Given the description of an element on the screen output the (x, y) to click on. 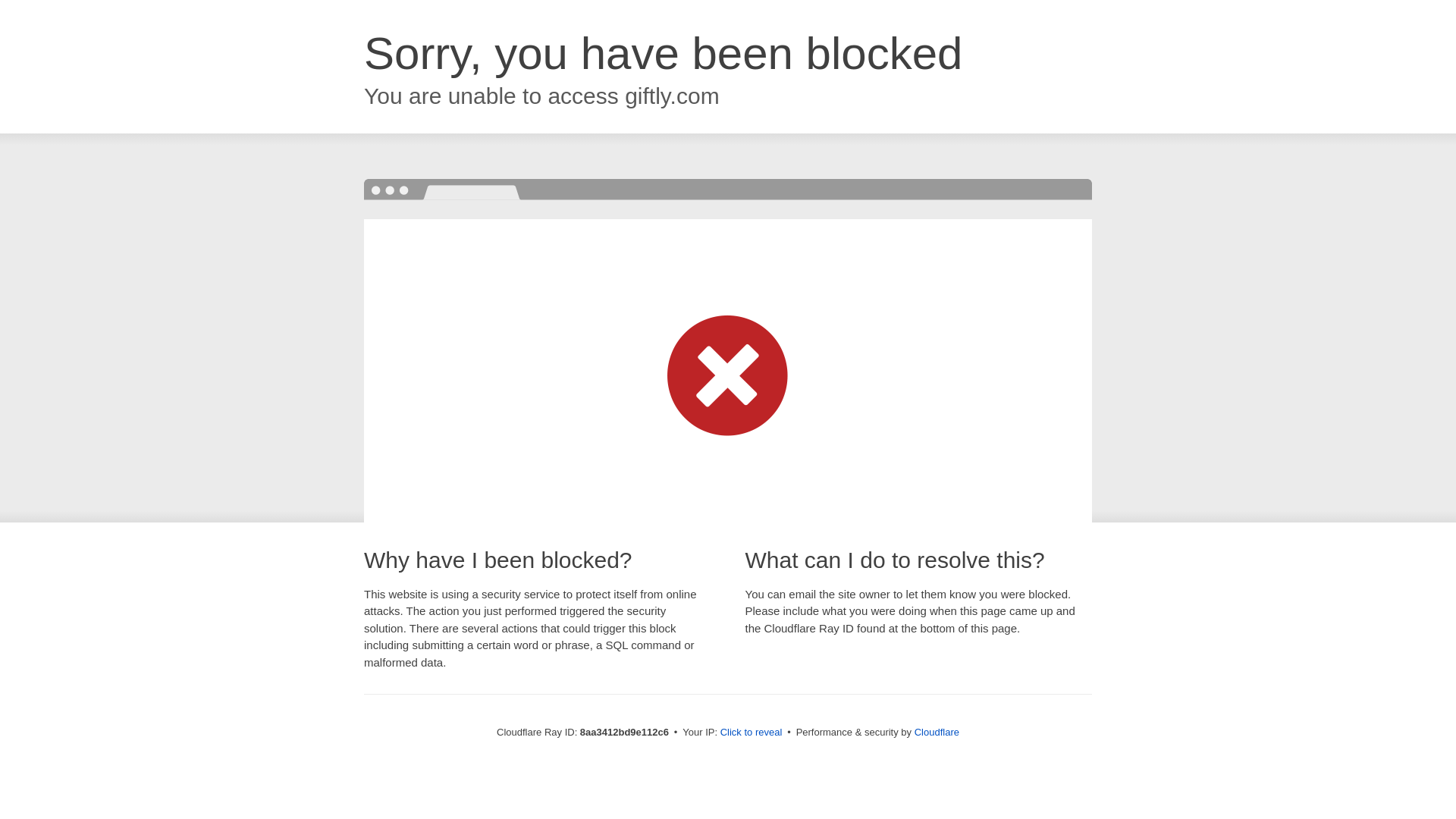
Click to reveal (751, 732)
Cloudflare (936, 731)
